Given the description of an element on the screen output the (x, y) to click on. 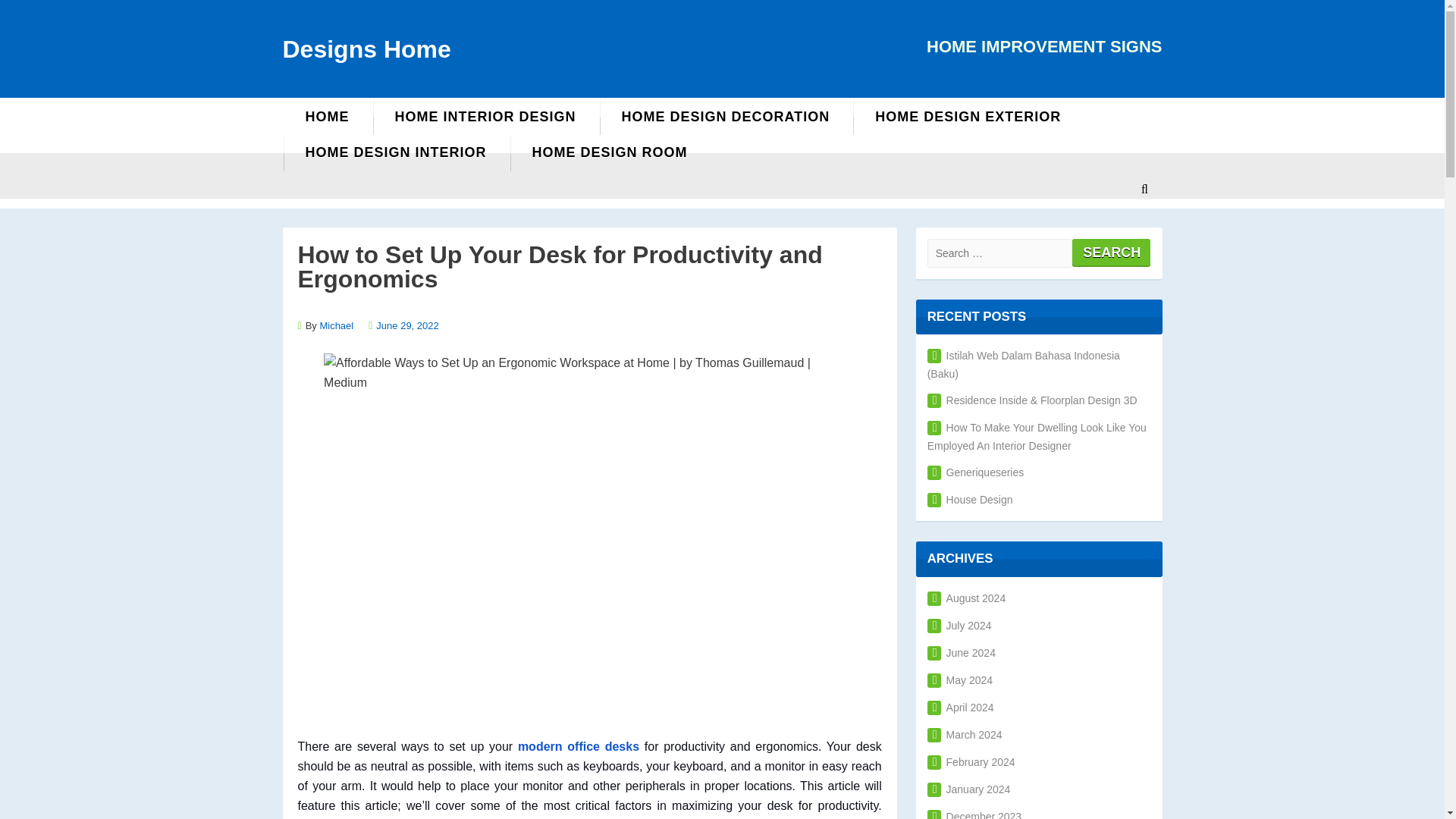
Designs Home (365, 48)
Search (1110, 252)
April 2024 (960, 707)
HOME DESIGN INTERIOR (395, 152)
January 2024 (968, 788)
House Design (970, 499)
March 2024 (965, 734)
modern office desks (578, 746)
HOME INTERIOR DESIGN (484, 117)
August 2024 (966, 598)
June 2024 (961, 653)
Generiqueseries (976, 472)
Search (796, 326)
HOME DESIGN ROOM (609, 152)
Search (1110, 252)
